Given the description of an element on the screen output the (x, y) to click on. 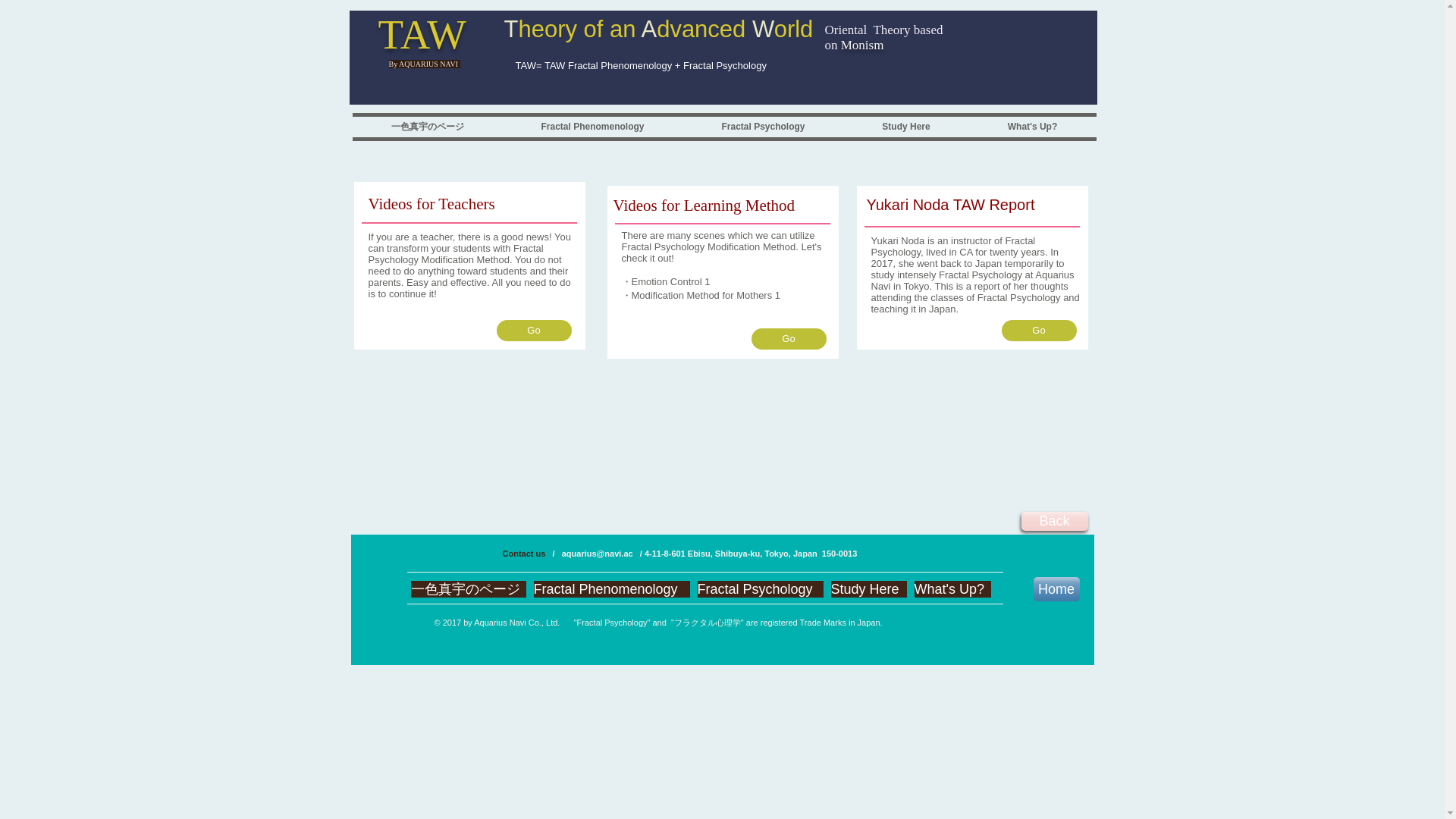
Study Here (905, 127)
Home (1055, 589)
Go (788, 338)
What's Up? (1032, 127)
Go (533, 330)
What's Up? (952, 588)
Back (1053, 520)
TAW (421, 34)
Study Here (869, 588)
Go (1038, 330)
